Given the description of an element on the screen output the (x, y) to click on. 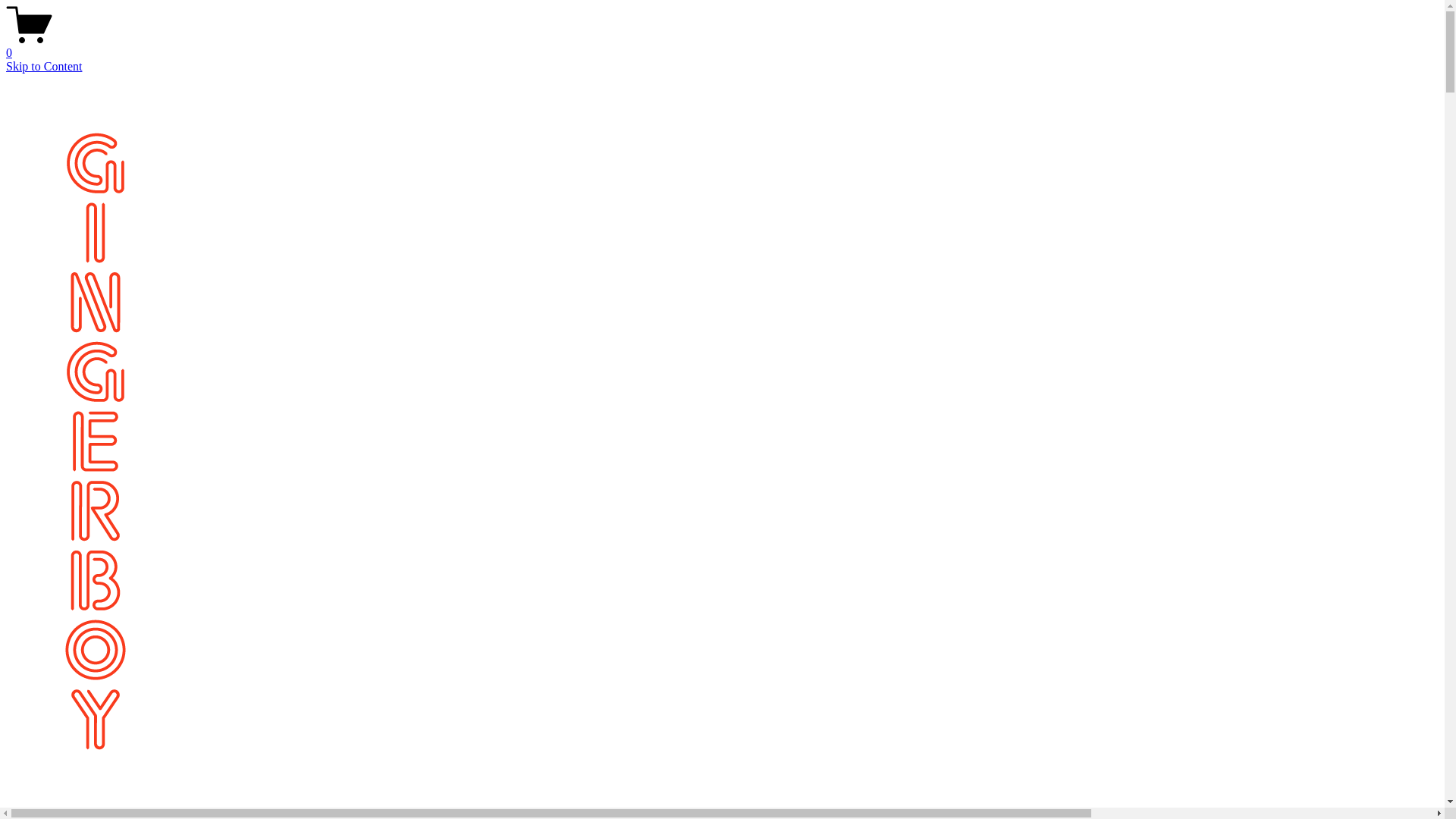
Skip to Content Element type: text (43, 65)
0 Element type: text (722, 45)
